Given the description of an element on the screen output the (x, y) to click on. 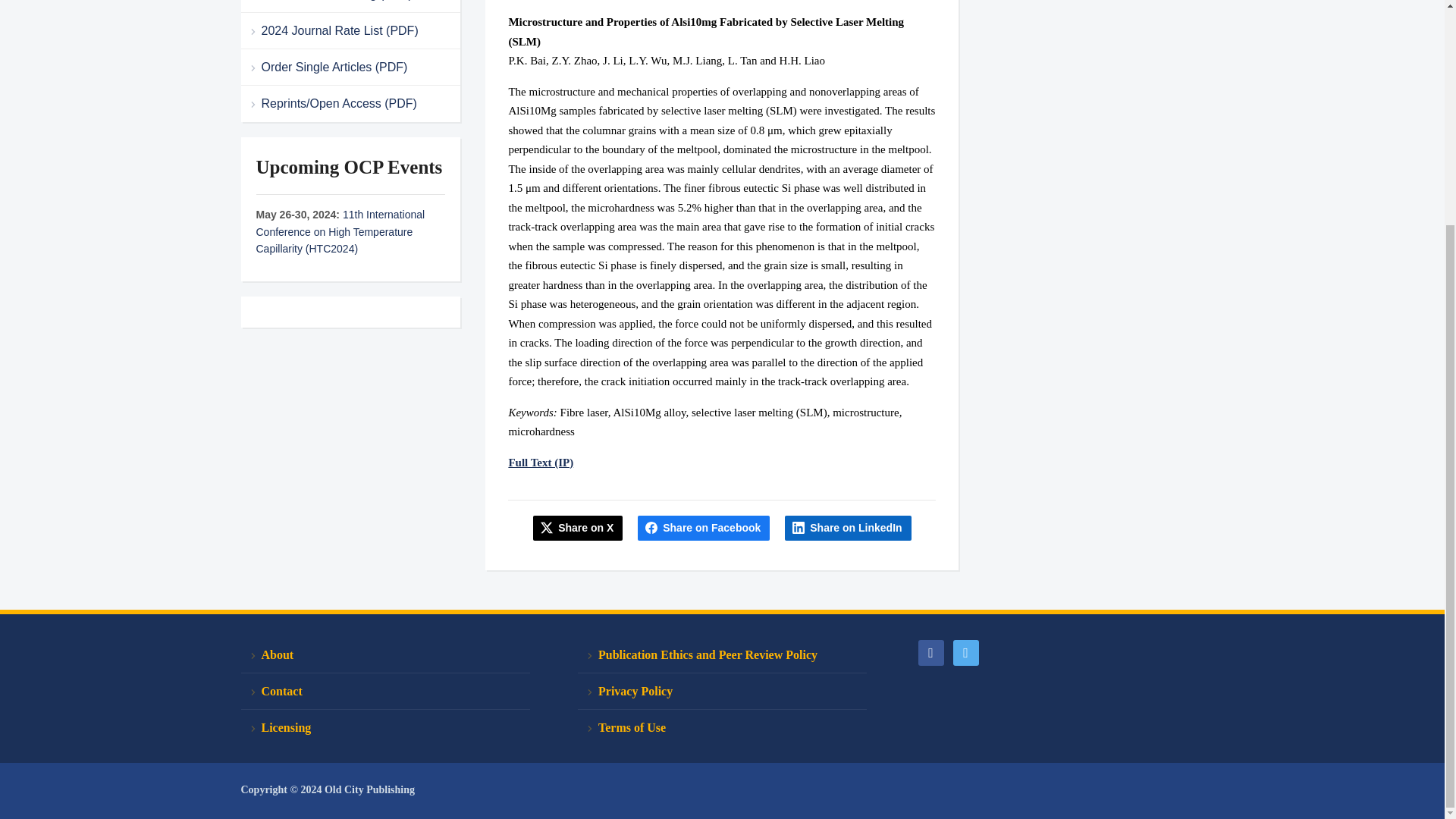
Friend me on Facebook (930, 650)
facebook (930, 650)
About (385, 655)
Share this on Facebook (703, 527)
Share on LinkedIn (847, 527)
Terms of Use (722, 727)
Privacy Policy (722, 691)
Share on X (577, 527)
Follow Me (965, 650)
Share on Facebook (703, 527)
Share on LinkedIn (847, 527)
Contact (385, 691)
Publication Ethics and Peer Review Policy (722, 655)
twitter (965, 650)
Share this on X (577, 527)
